Given the description of an element on the screen output the (x, y) to click on. 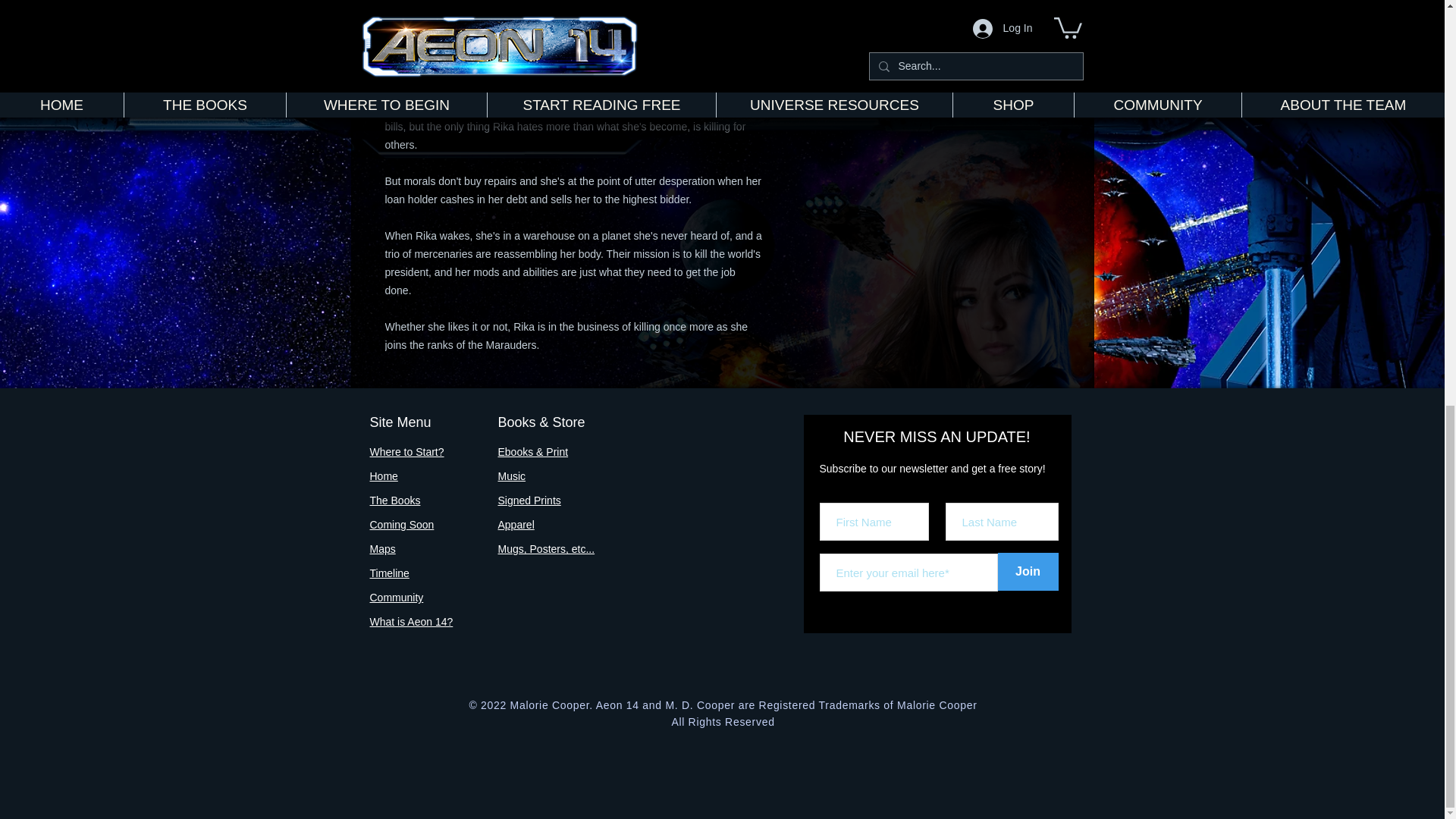
Where to Start? (406, 451)
